Given the description of an element on the screen output the (x, y) to click on. 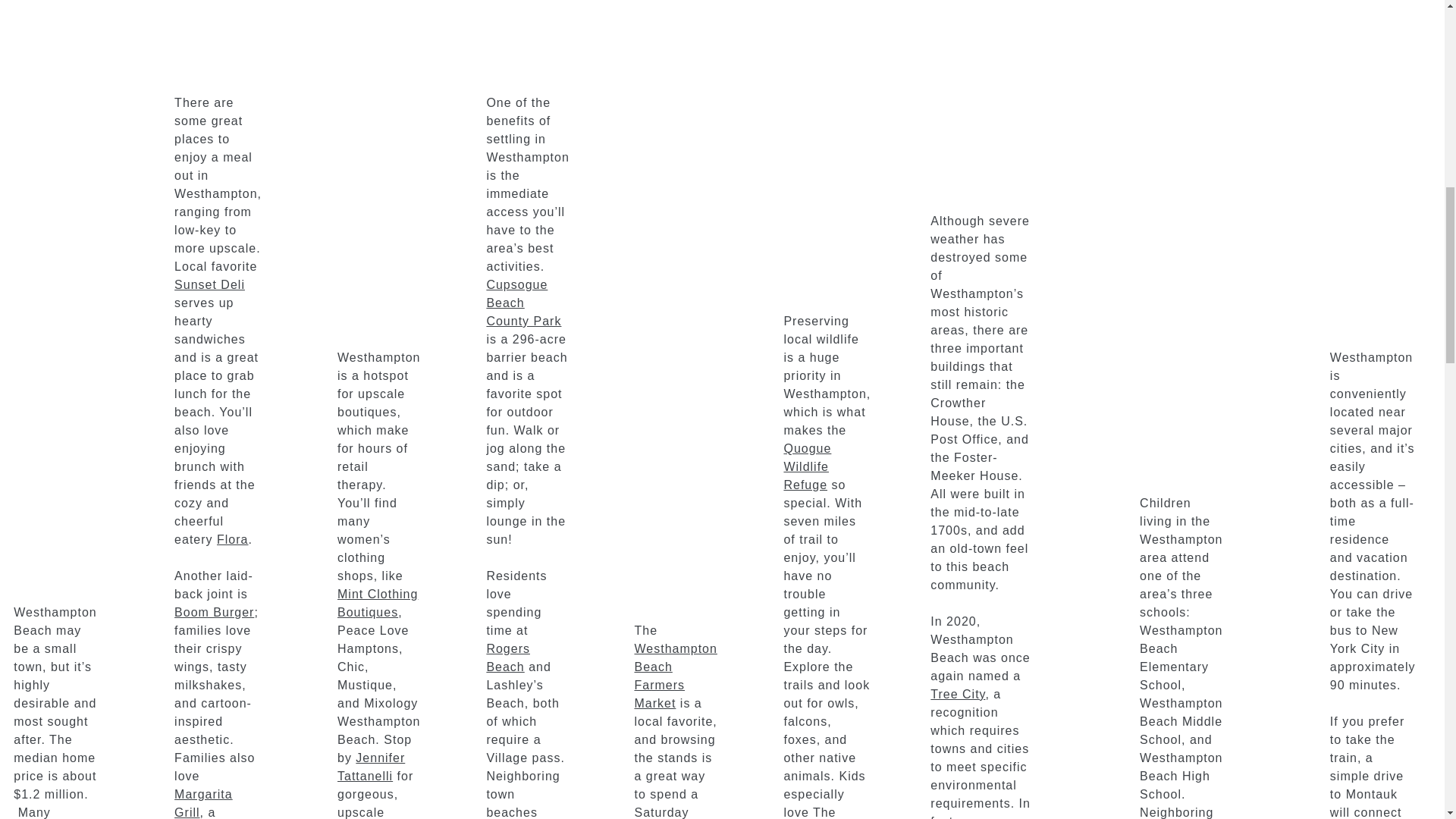
Boom Burger (213, 612)
Margarita Grill (203, 803)
Flora (231, 539)
Sunset Deli (209, 284)
